Given the description of an element on the screen output the (x, y) to click on. 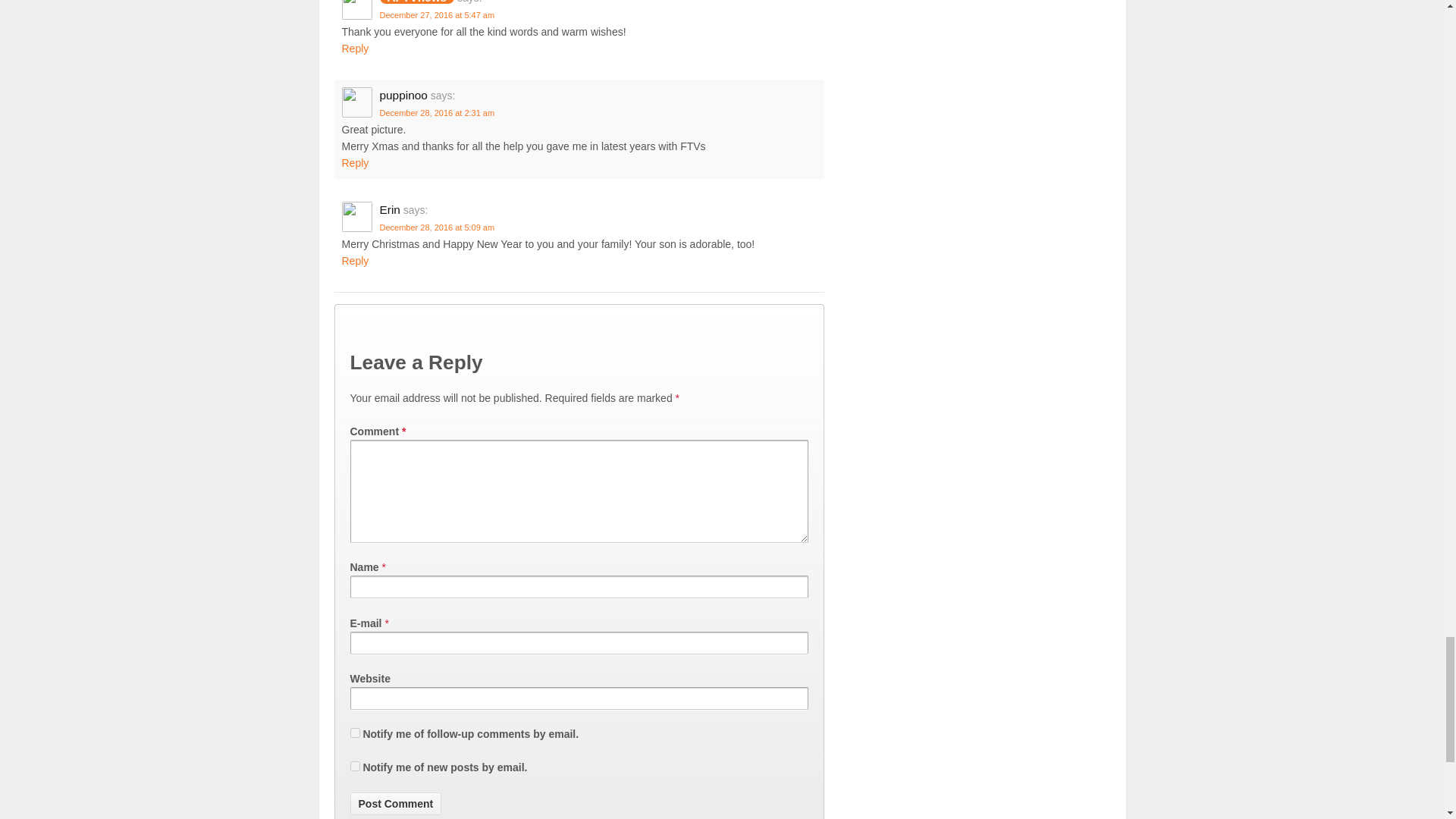
subscribe (354, 766)
subscribe (354, 732)
Post Comment (396, 803)
